Given the description of an element on the screen output the (x, y) to click on. 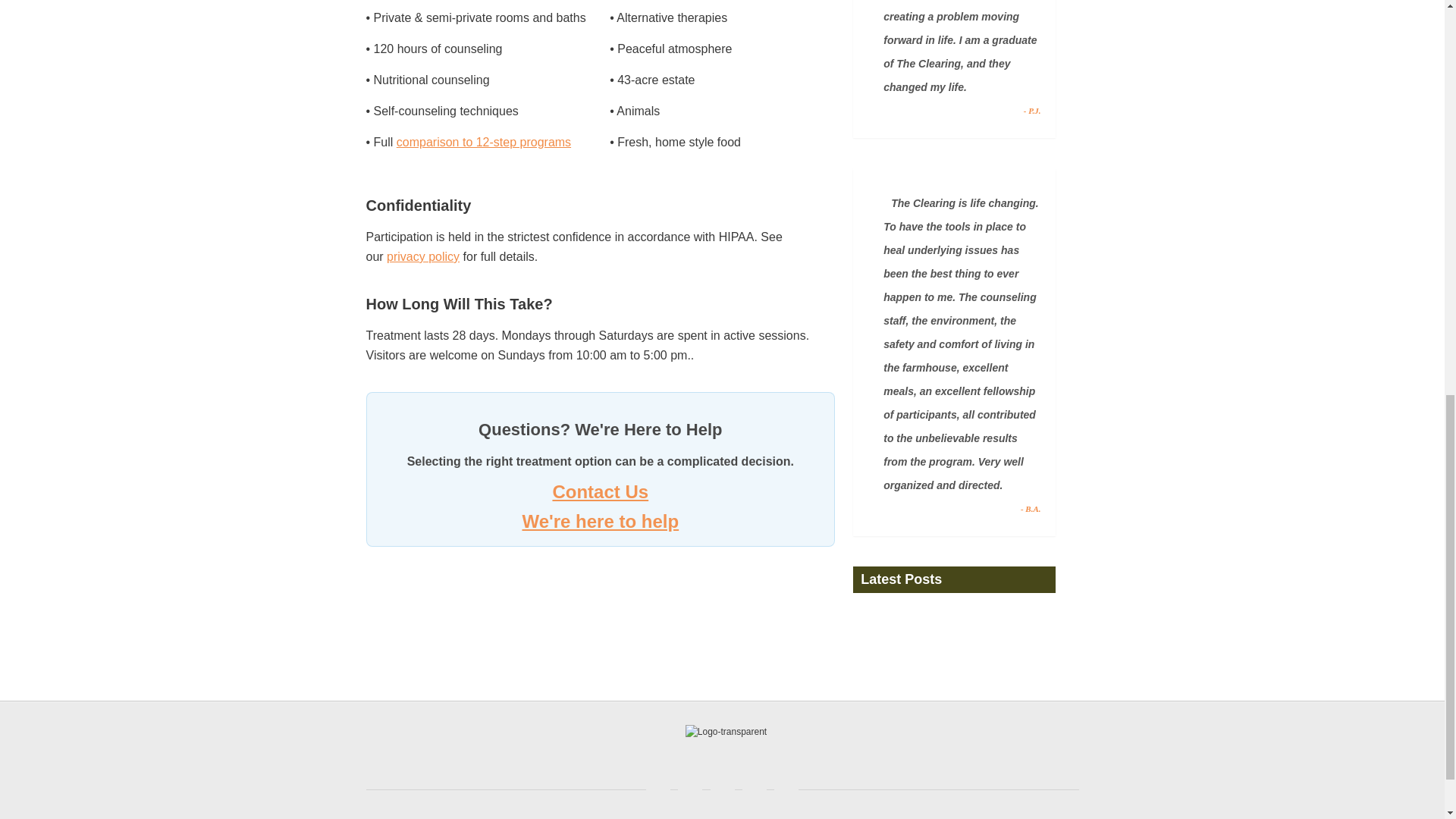
LinkedIn (721, 789)
Facebook (657, 789)
Twitter (689, 789)
YouTube (754, 789)
Instagram (785, 789)
privacy policy (423, 256)
comparison to 12-step programs (483, 141)
Contact Us (599, 491)
We're here to help (599, 521)
